Given the description of an element on the screen output the (x, y) to click on. 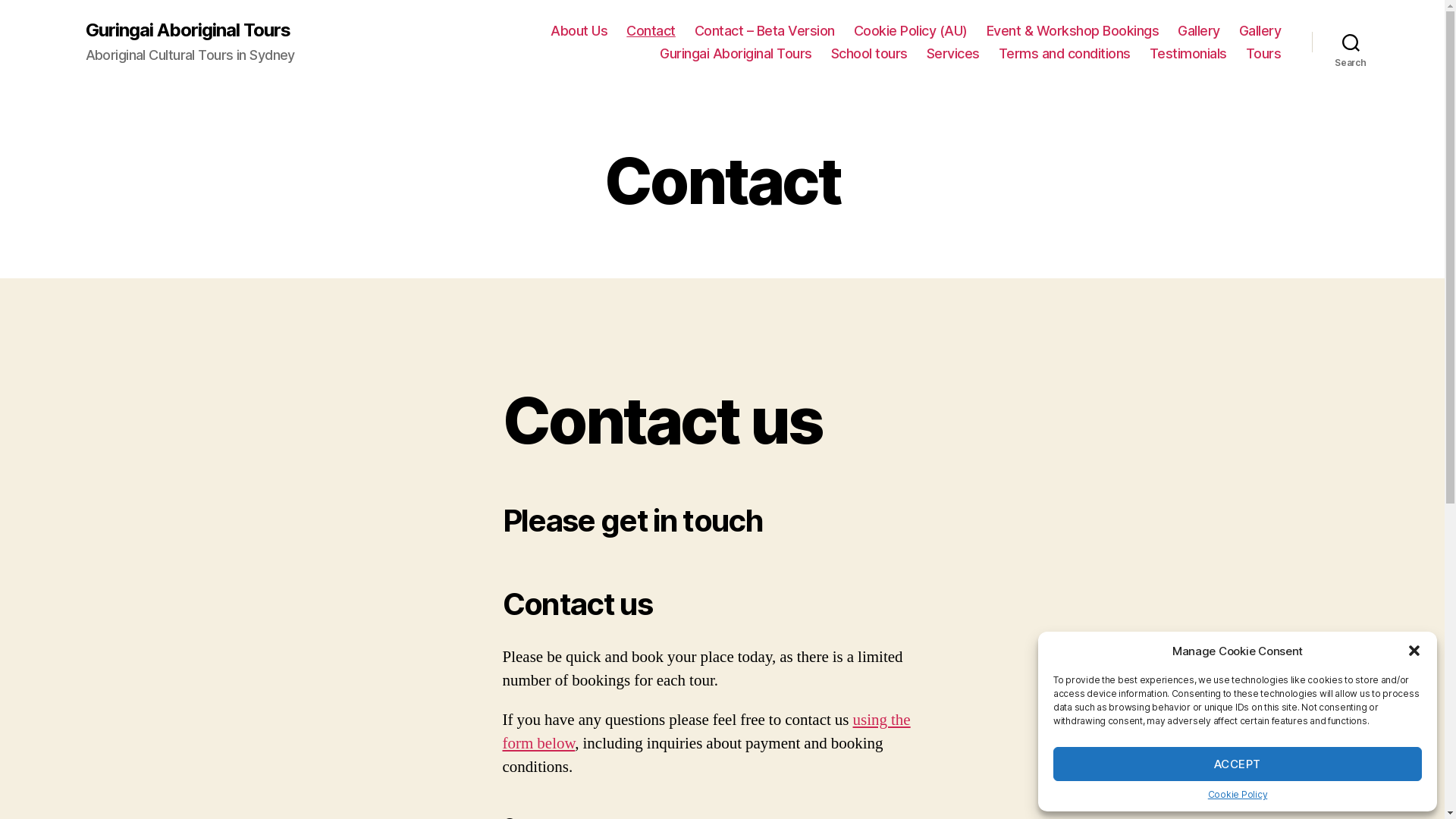
Contact Element type: text (650, 30)
Cookie Policy Element type: text (1237, 794)
Guringai Aboriginal Tours Element type: text (186, 30)
School tours Element type: text (869, 53)
Testimonials Element type: text (1187, 53)
Search Element type: text (1350, 42)
Terms and conditions Element type: text (1064, 53)
ACCEPT Element type: text (1237, 763)
Guringai Aboriginal Tours Element type: text (735, 53)
Cookie Policy (AU) Element type: text (910, 30)
Gallery Element type: text (1260, 30)
using the form below Element type: text (706, 731)
Tours Element type: text (1263, 53)
Gallery Element type: text (1198, 30)
Event & Workshop Bookings Element type: text (1072, 30)
Services Element type: text (952, 53)
About Us Element type: text (578, 30)
